Given the description of an element on the screen output the (x, y) to click on. 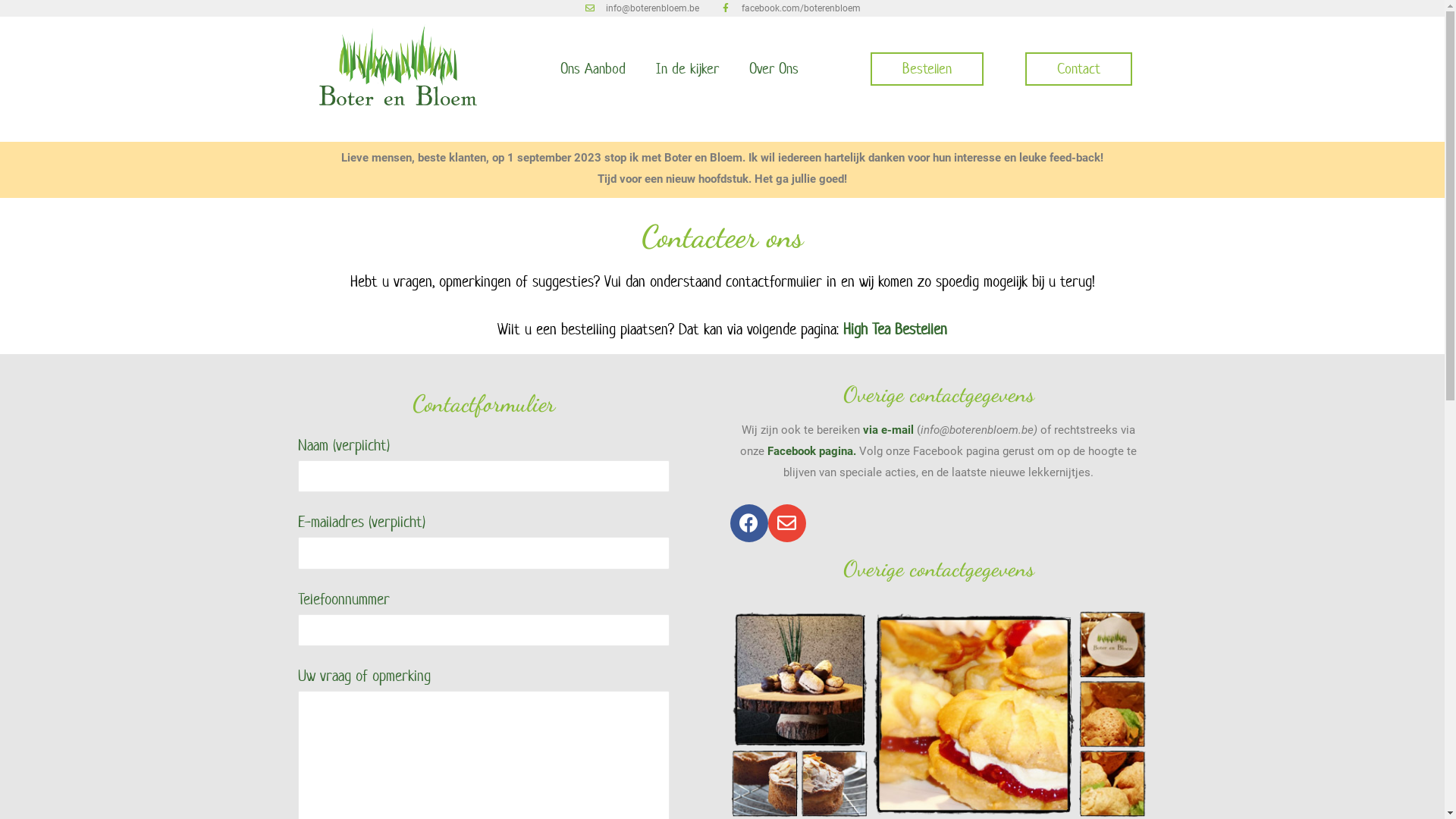
via e-mail Element type: text (887, 429)
Contact Element type: text (1078, 68)
High Tea Bestellen Element type: text (895, 328)
Ons Aanbod Element type: text (592, 68)
Facebook pagina. Element type: text (811, 451)
info@boterenbloem.be Element type: text (640, 8)
Over Ons Element type: text (773, 68)
Bestellen Element type: text (926, 68)
In de kijker Element type: text (686, 68)
facebook.com/boterenbloem Element type: text (790, 8)
